Given the description of an element on the screen output the (x, y) to click on. 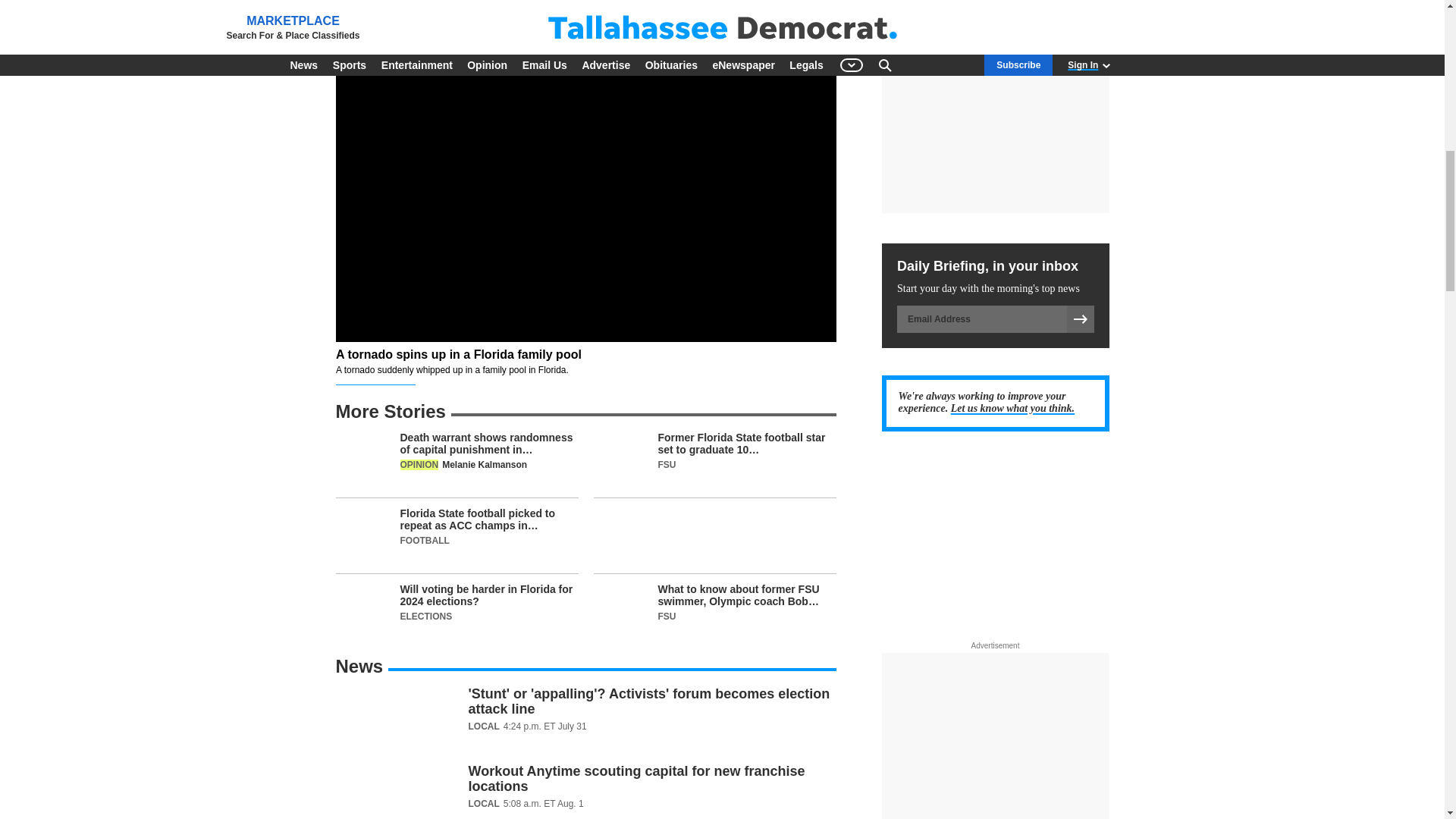
Will voting be harder in Florida for 2024 elections? (456, 611)
Top 5 cool things to do around Tallahassee (585, 7)
